Given the description of an element on the screen output the (x, y) to click on. 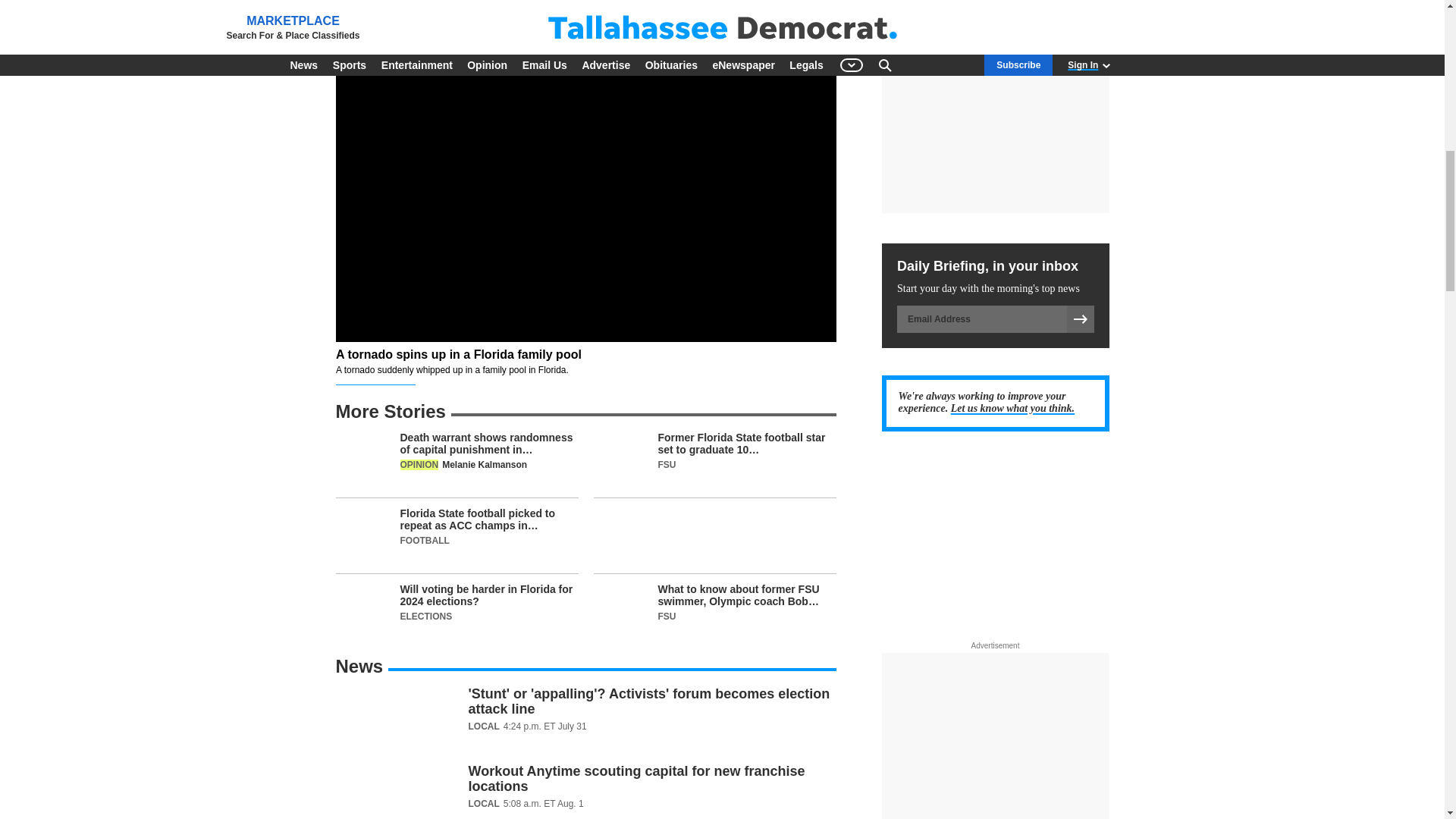
Will voting be harder in Florida for 2024 elections? (456, 611)
Top 5 cool things to do around Tallahassee (585, 7)
